Given the description of an element on the screen output the (x, y) to click on. 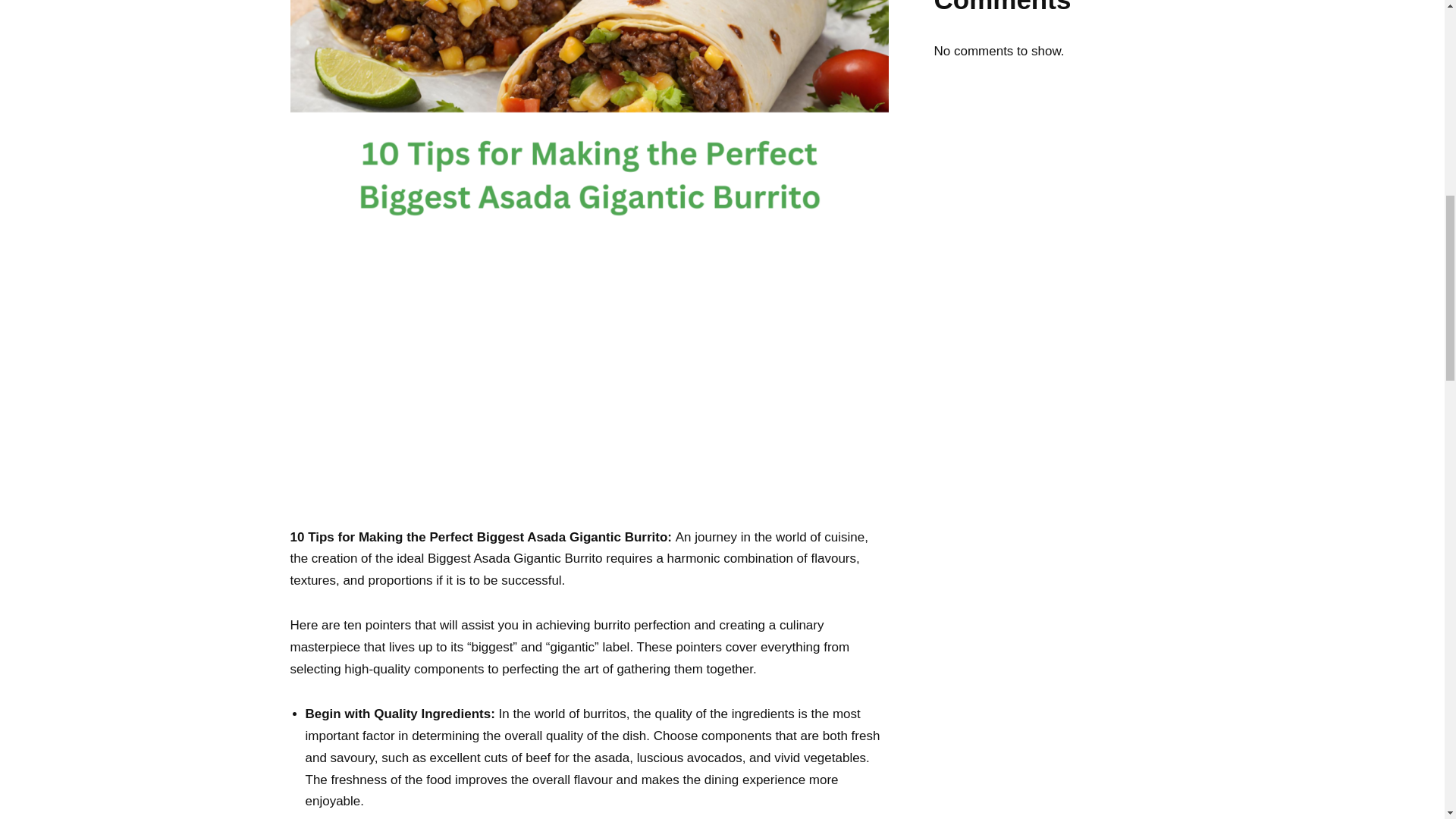
Advertisement (588, 414)
